Given the description of an element on the screen output the (x, y) to click on. 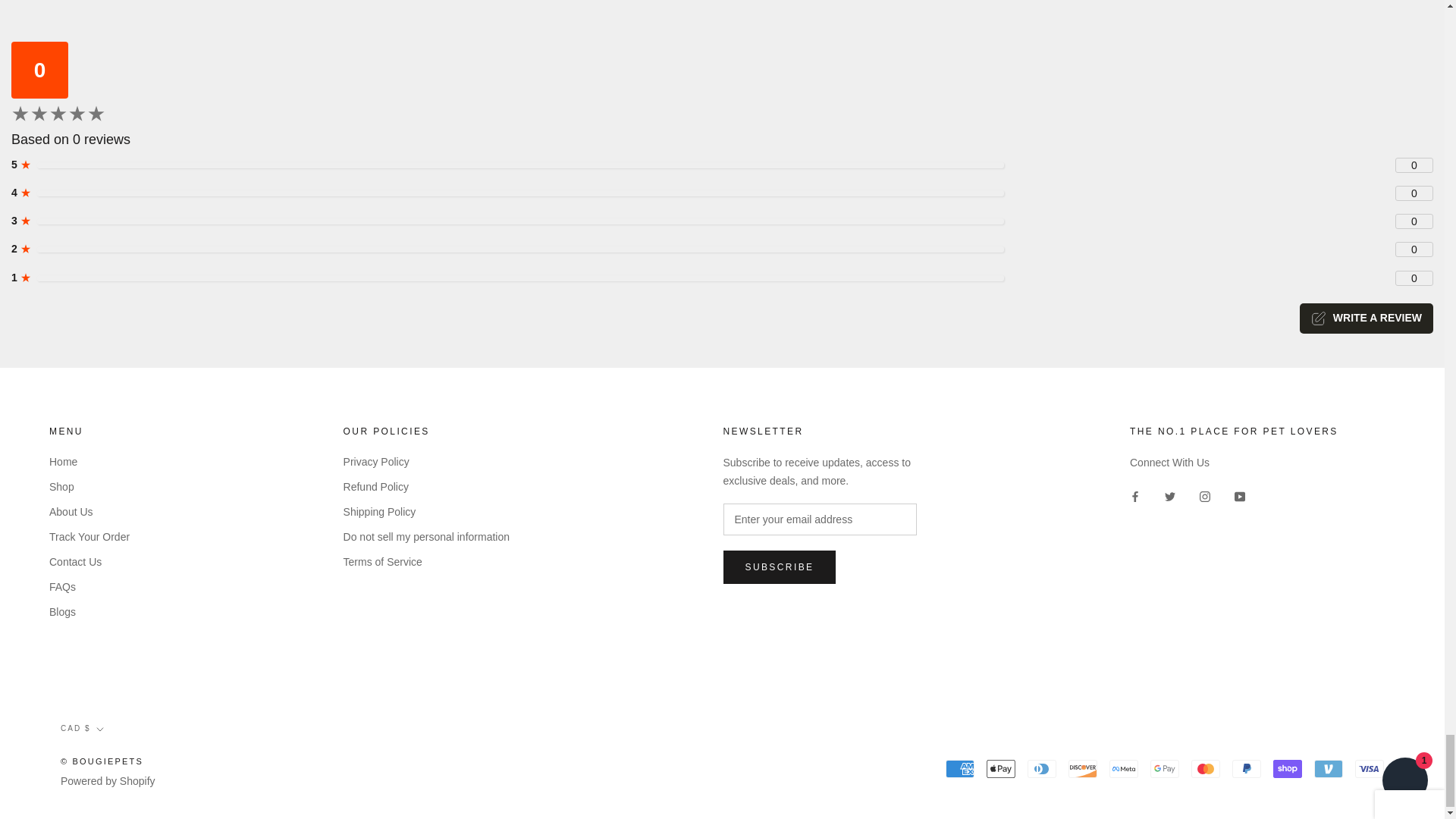
Diners Club (1042, 769)
American Express (959, 769)
Apple Pay (1000, 769)
